Given the description of an element on the screen output the (x, y) to click on. 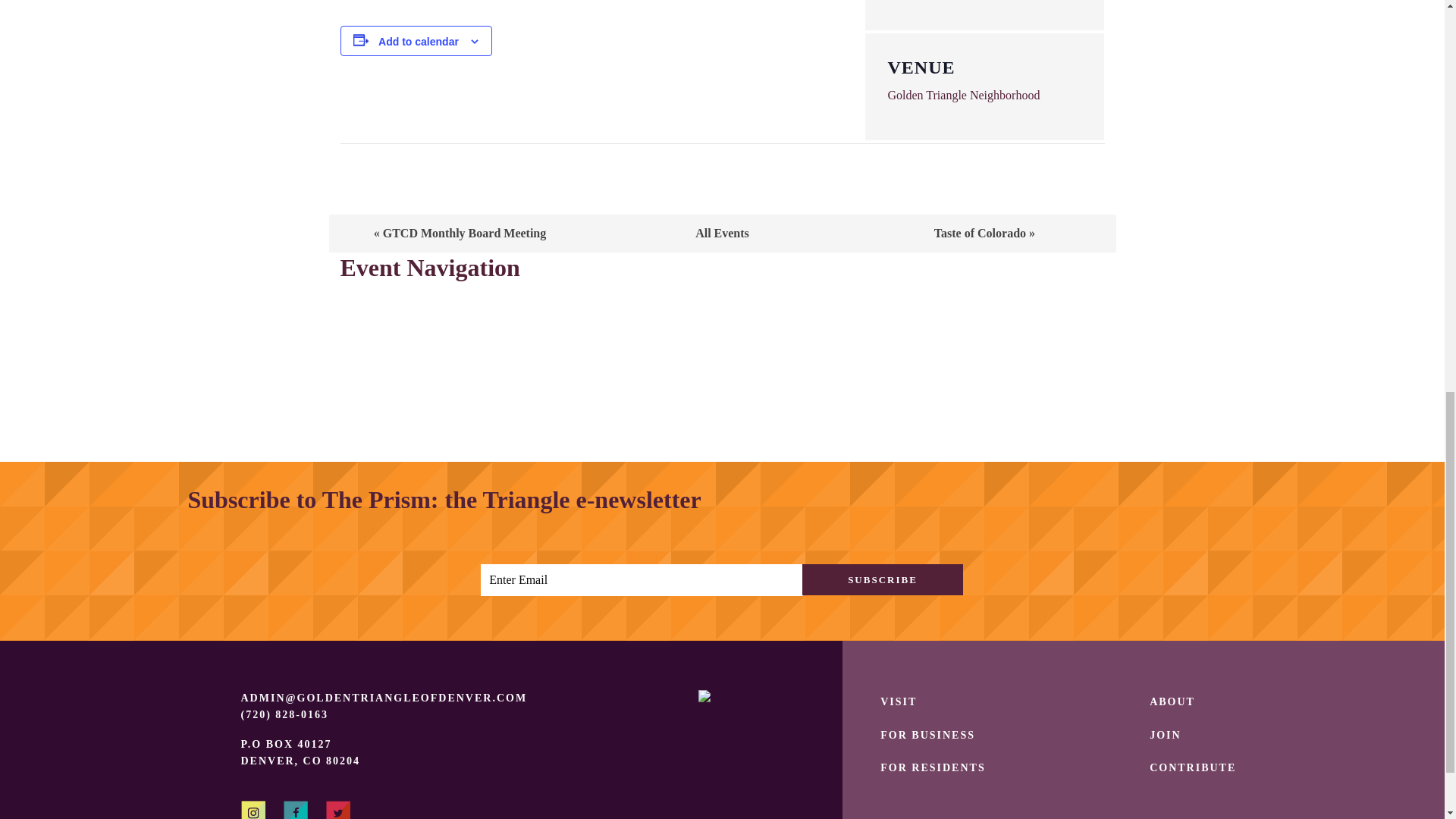
FOR BUSINESS (927, 735)
Subscribe (882, 579)
VISIT (898, 701)
All Events (722, 232)
Add to calendar (418, 41)
Subscribe (882, 579)
